Given the description of an element on the screen output the (x, y) to click on. 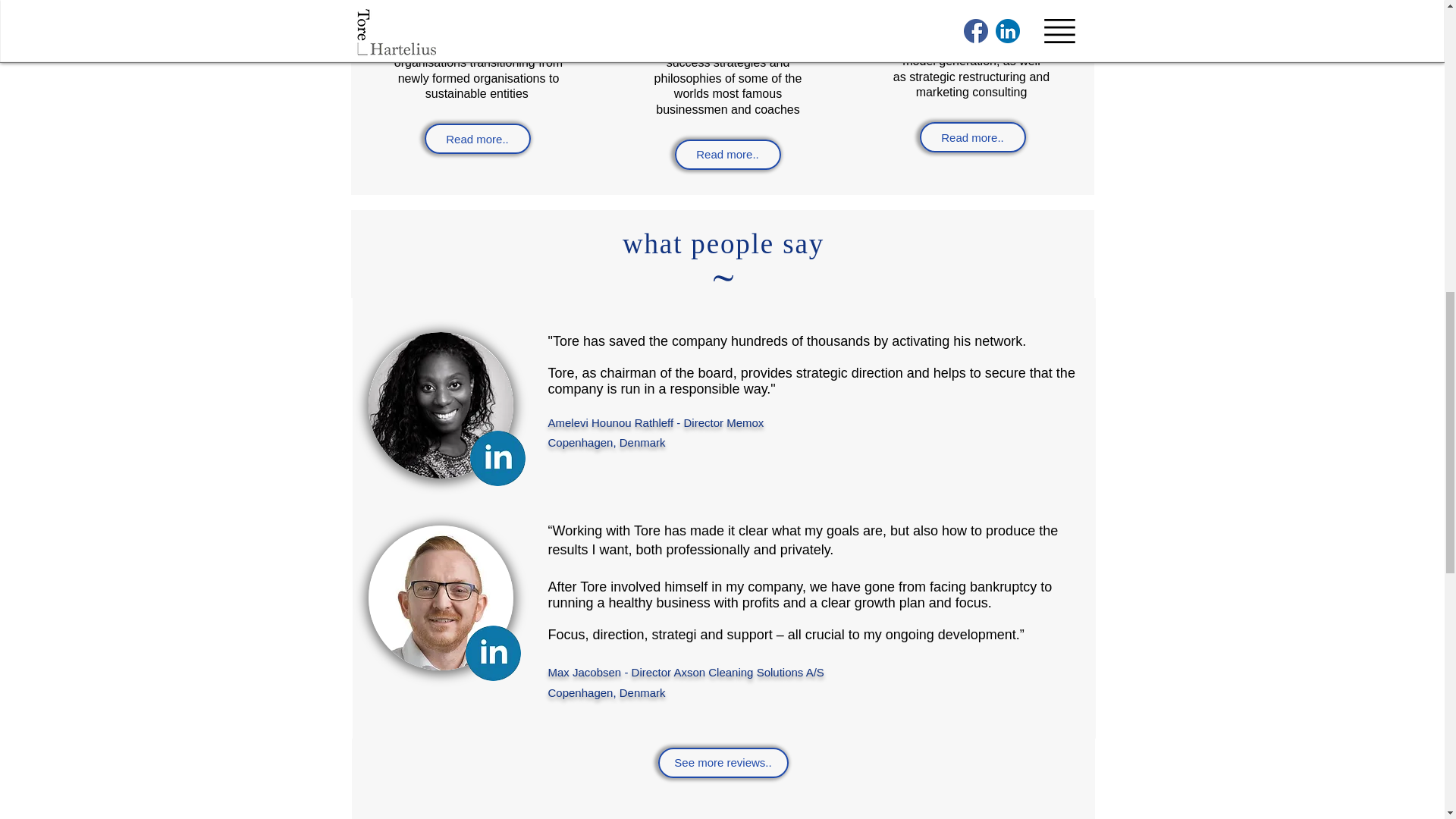
Read more.. (971, 137)
See more reviews.. (723, 762)
Copenhagen, Denmark (606, 441)
Amelevi Hounou Rathleff - Director (636, 422)
Read more.. (478, 138)
Copenhagen, Denmark  (607, 692)
Business Growth and Leadership  (476, 8)
Memox (744, 422)
Read more.. (727, 154)
